Given the description of an element on the screen output the (x, y) to click on. 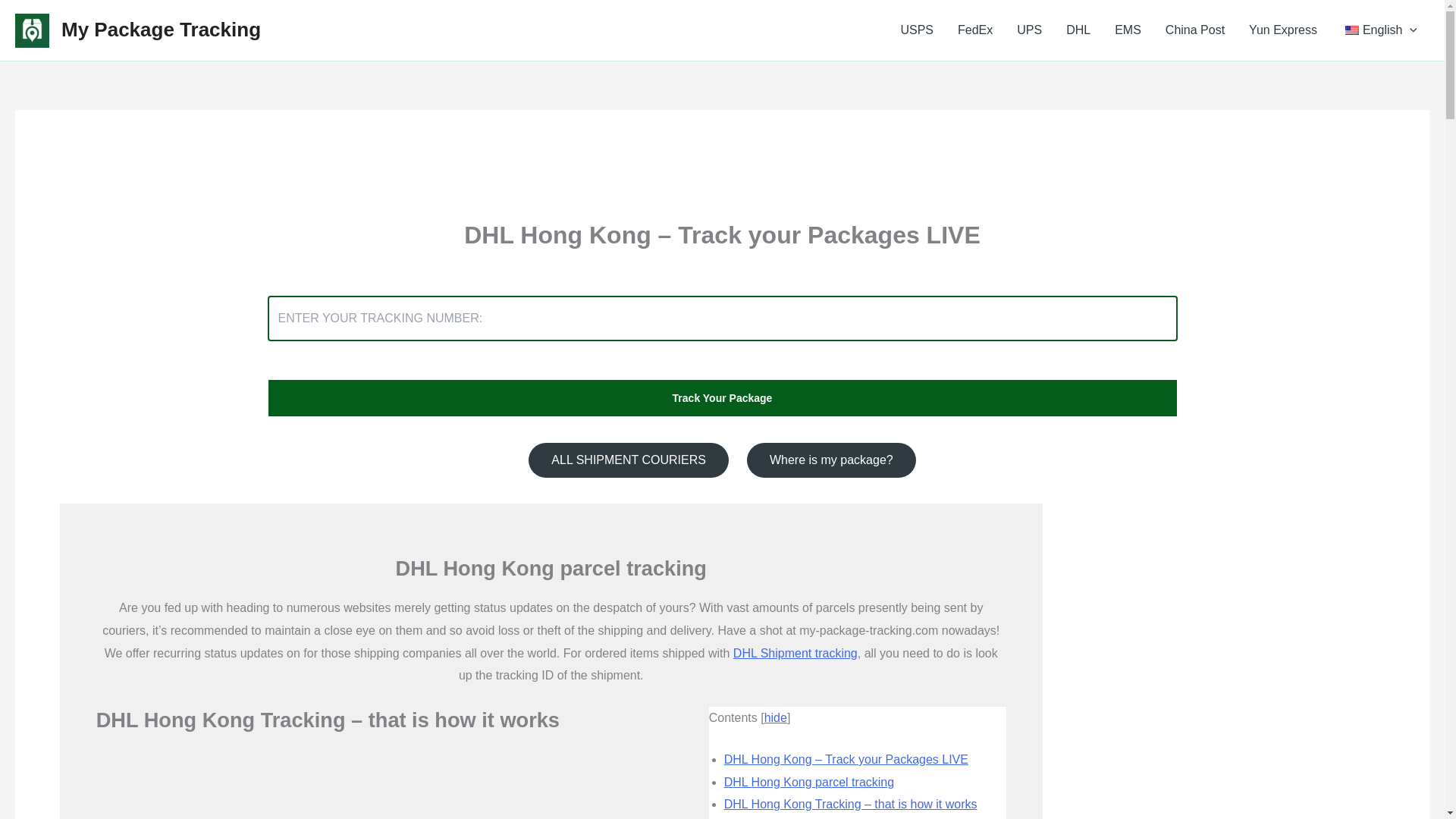
English (1379, 30)
My Package Tracking (160, 29)
China Post (1194, 30)
USPS (916, 30)
Track Your Package (721, 397)
Yun Express (1282, 30)
FedEx (974, 30)
English (1351, 30)
